Given the description of an element on the screen output the (x, y) to click on. 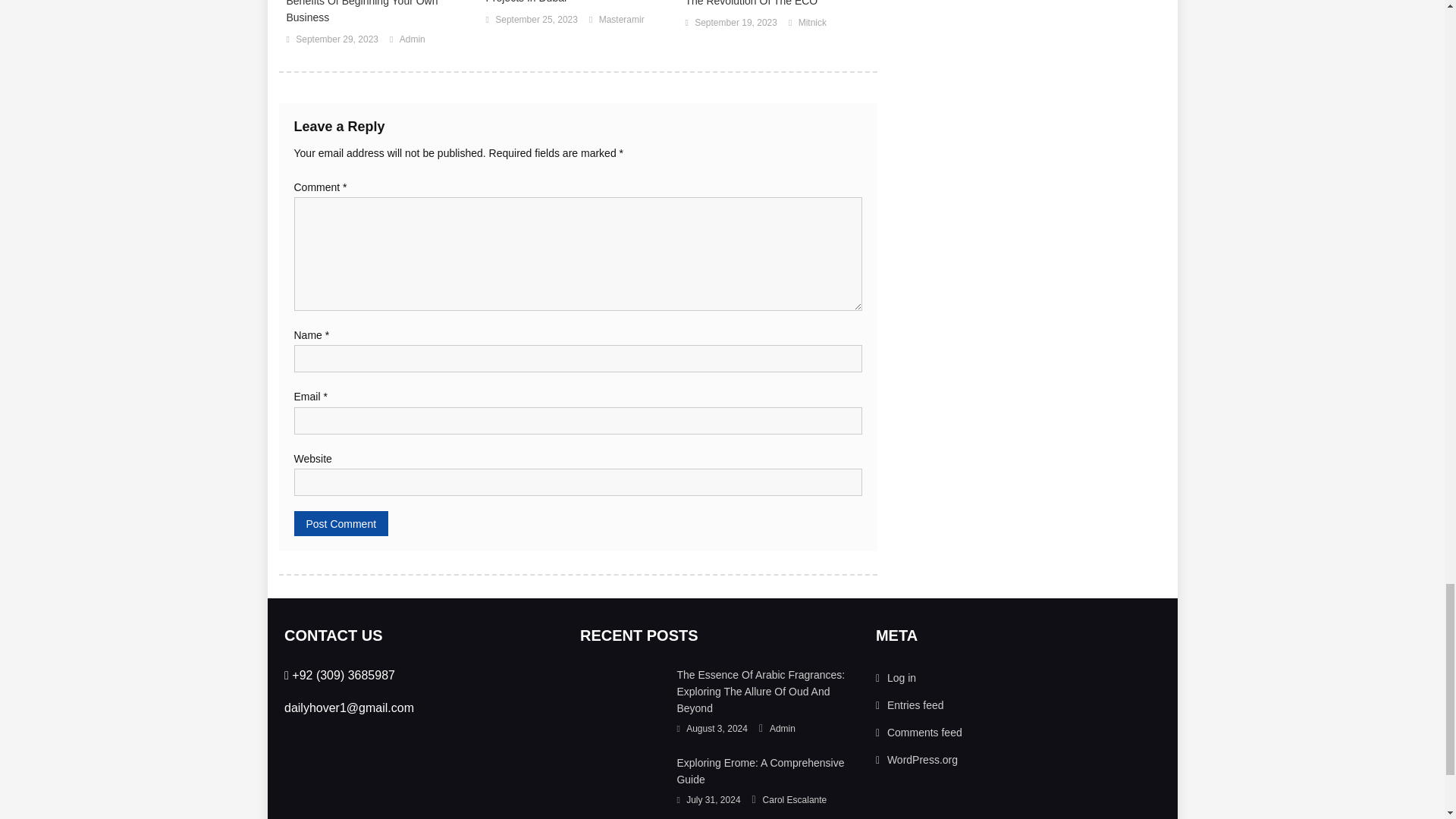
Admin (411, 39)
Benefits Of Investing In Emaar Projects In Dubai (576, 2)
September 29, 2023 (336, 39)
Benefits Of Beginning Your Own Business (378, 12)
Post Comment (341, 523)
